Given the description of an element on the screen output the (x, y) to click on. 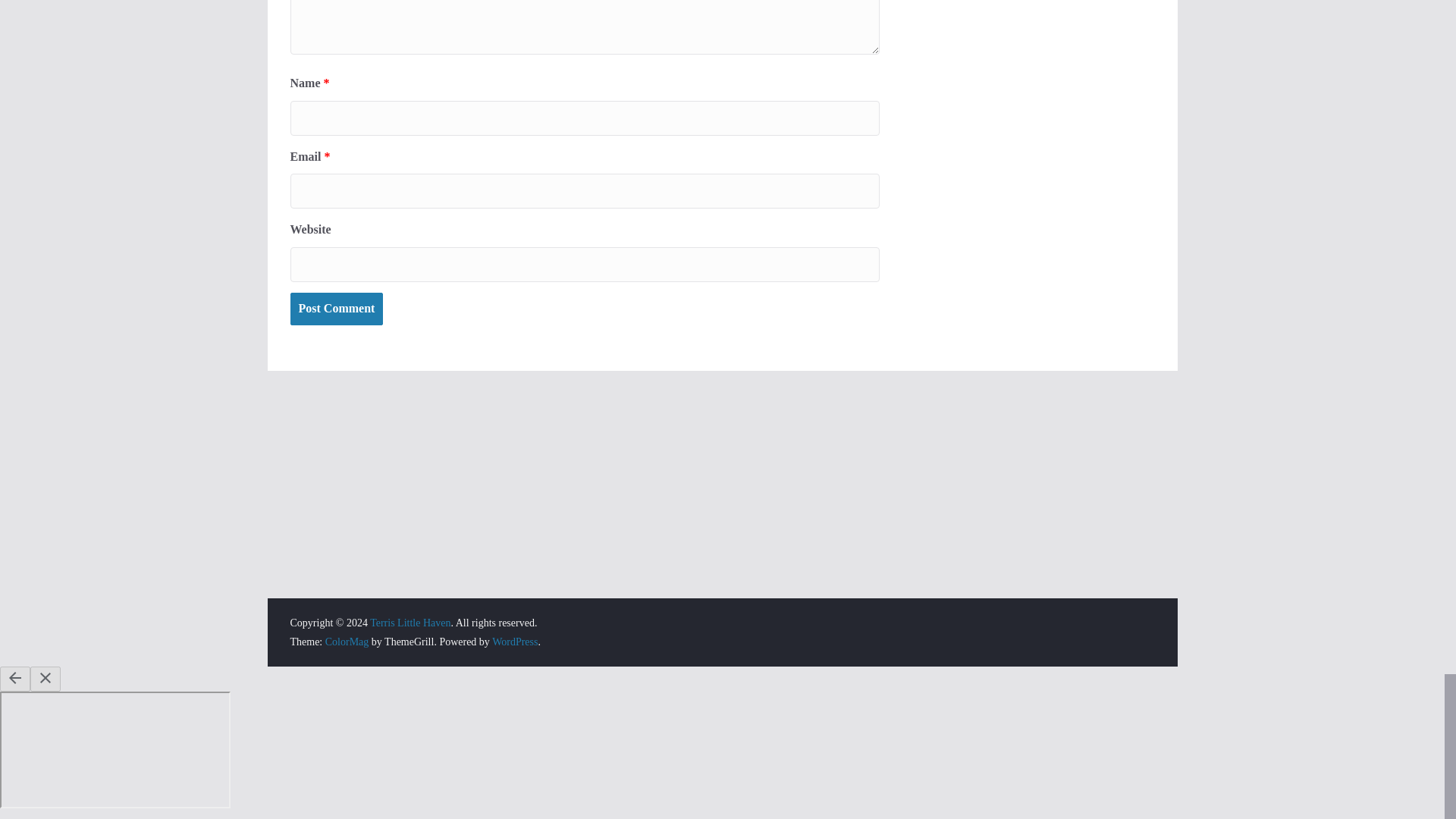
Post Comment (335, 308)
